Given the description of an element on the screen output the (x, y) to click on. 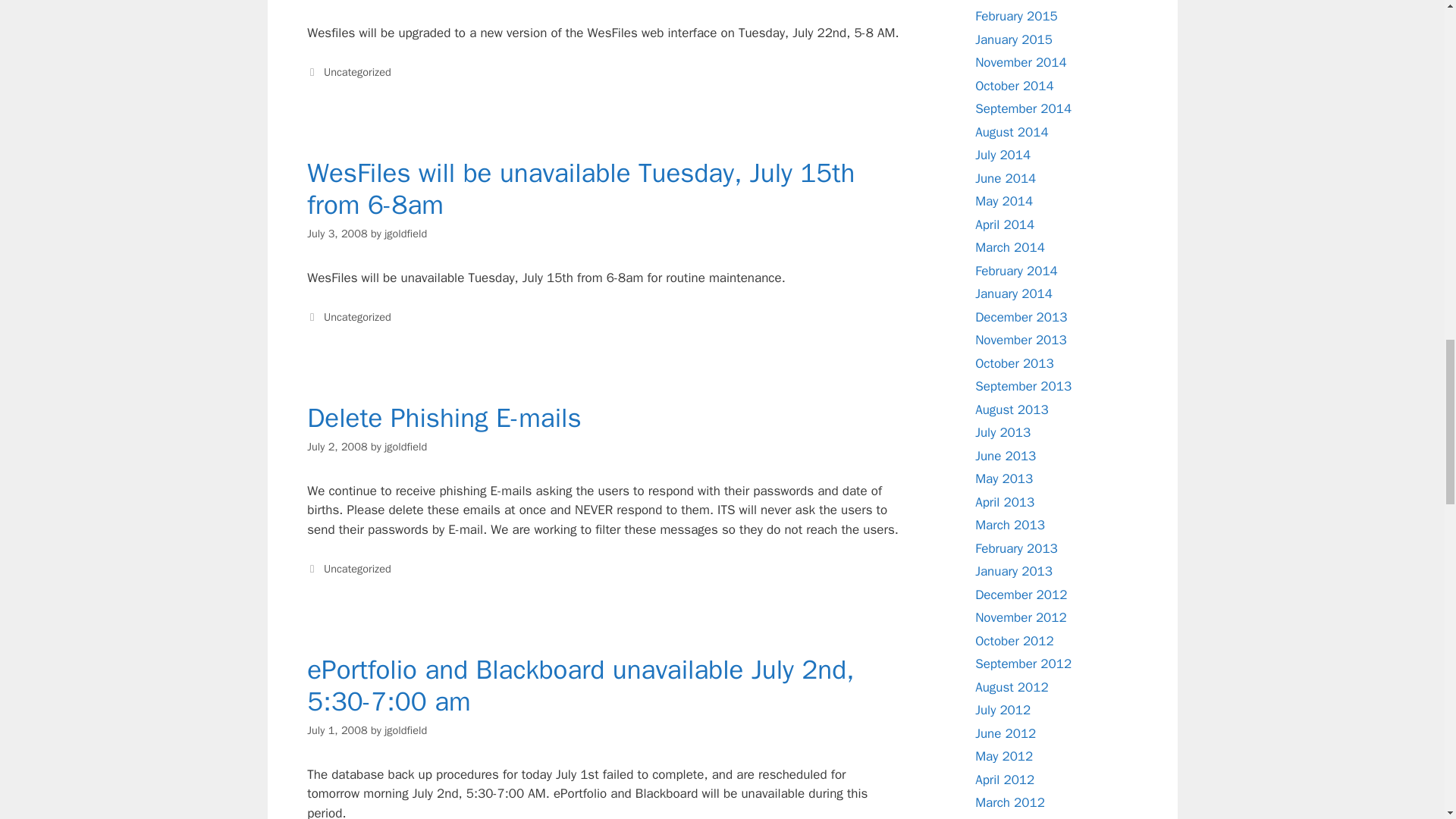
View all posts by jgoldfield (405, 233)
View all posts by jgoldfield (405, 730)
View all posts by jgoldfield (405, 446)
